Given the description of an element on the screen output the (x, y) to click on. 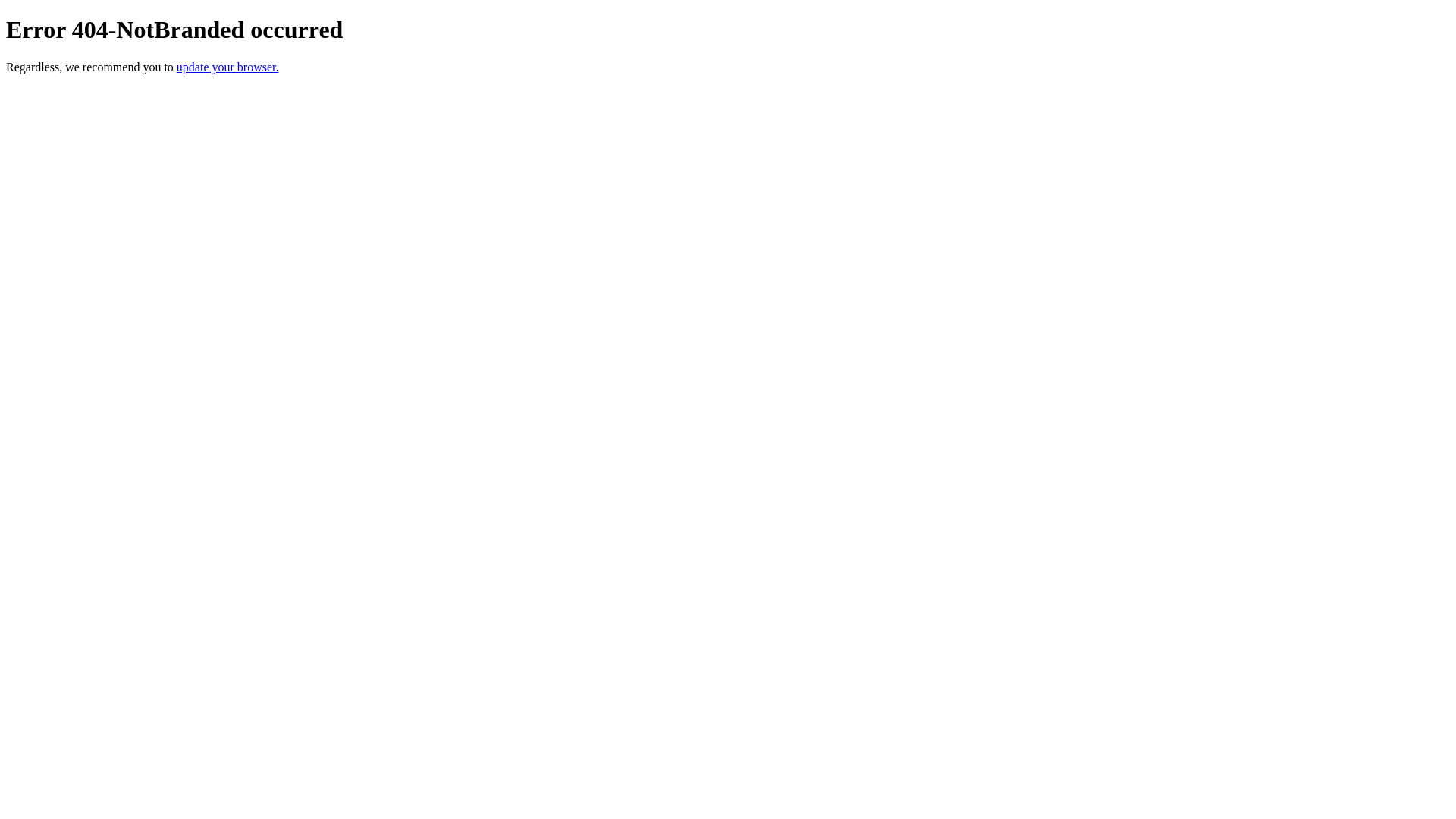
update your browser. Element type: text (227, 66)
